Given the description of an element on the screen output the (x, y) to click on. 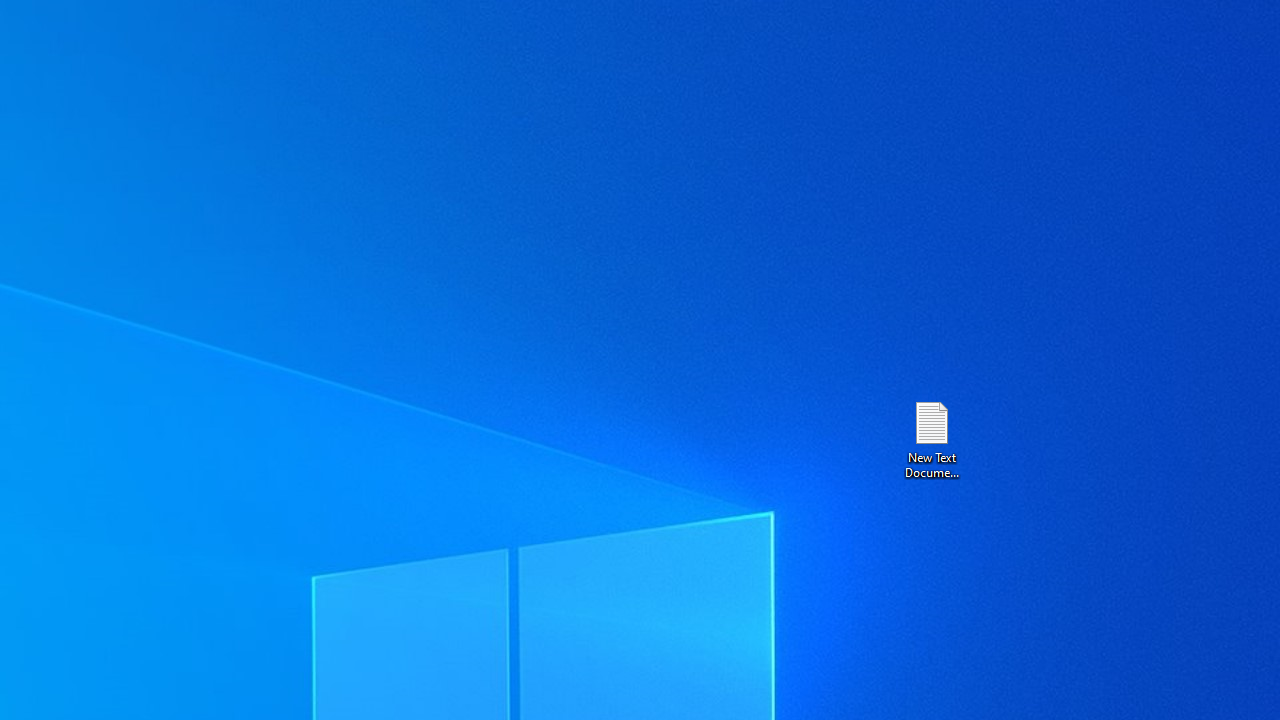
New Text Document (2) (931, 438)
